Given the description of an element on the screen output the (x, y) to click on. 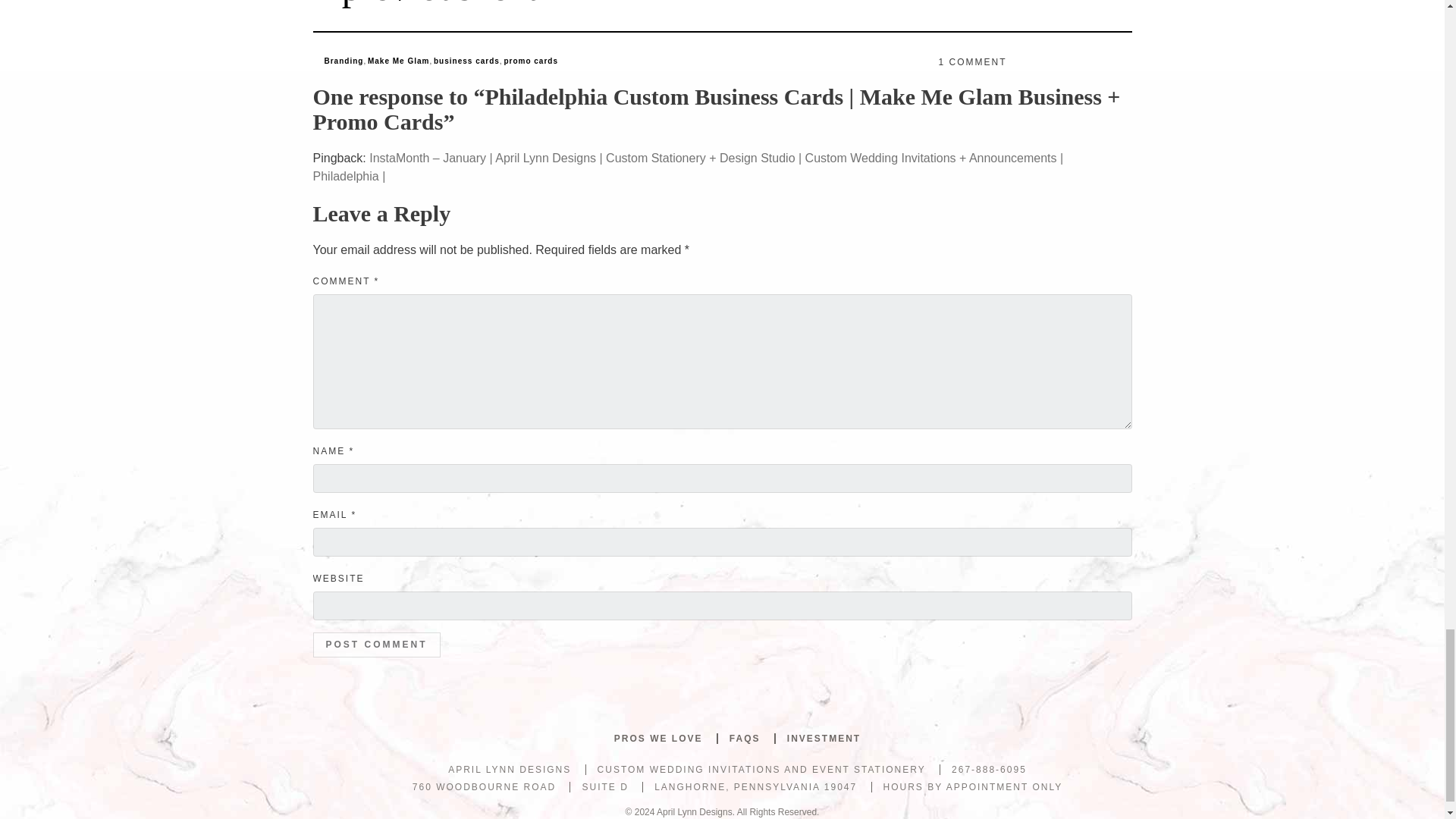
Post Comment (376, 644)
